Given the description of an element on the screen output the (x, y) to click on. 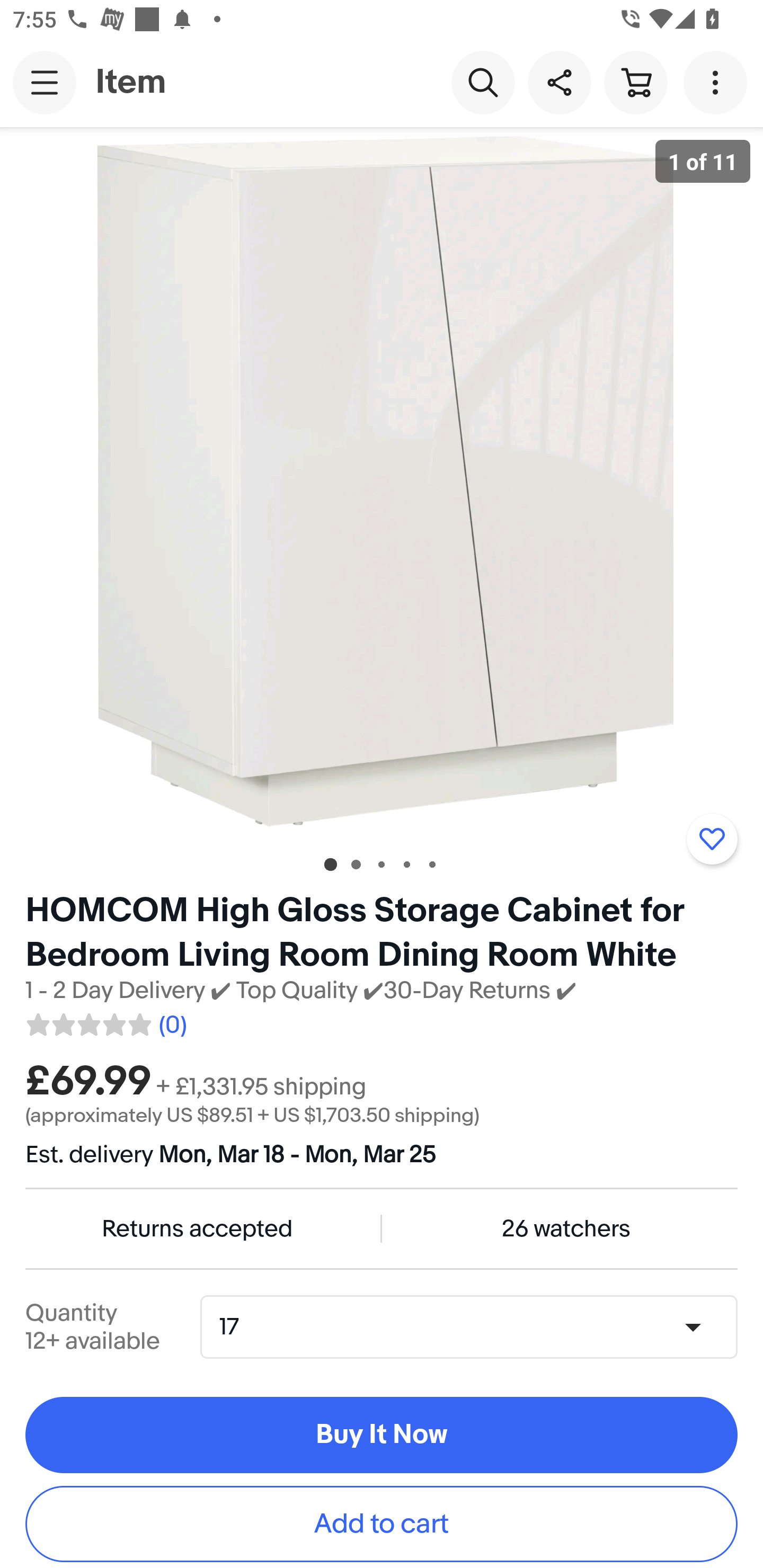
Main navigation, open (44, 82)
Search (482, 81)
Share this item (559, 81)
Cart button shopping cart (635, 81)
More options (718, 81)
Item image 1 of 11 (381, 482)
Add to watchlist (711, 838)
1 - 2 Day Delivery ✔ Top Quality ✔30-Day Returns ✔ (300, 990)
0 reviews. Average rating 0.0 out of five 0.0 (0) (105, 1021)
Quantity,17,12+ available 17 (474, 1326)
Buy It Now (381, 1435)
Add to cart (381, 1523)
